Given the description of an element on the screen output the (x, y) to click on. 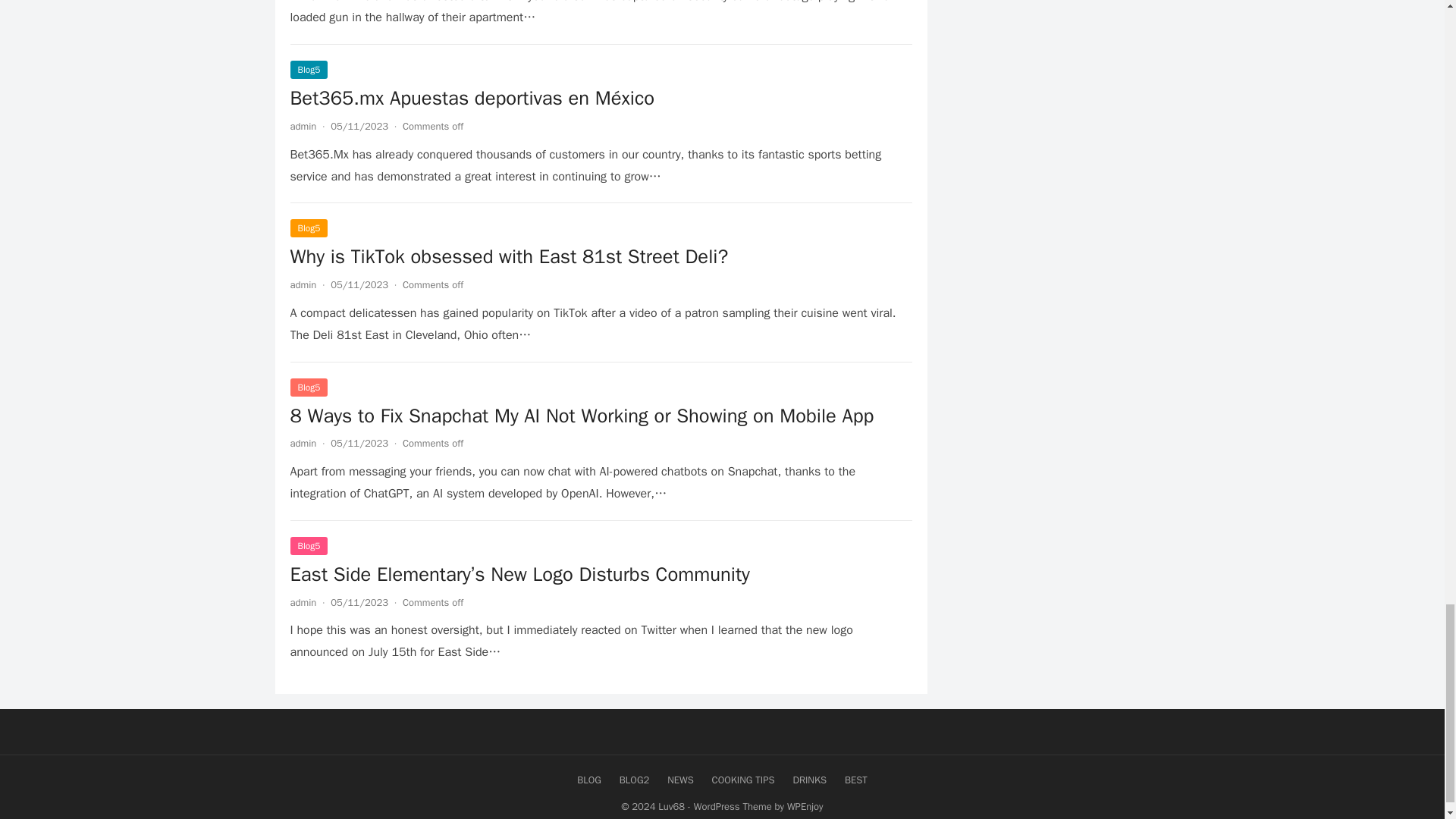
Blog5 (308, 386)
Blog5 (308, 228)
Why is TikTok obsessed with East 81st Street Deli? (508, 256)
admin (302, 442)
Posts by admin (302, 125)
Blog5 (308, 69)
admin (302, 125)
Posts by admin (302, 602)
Posts by admin (302, 284)
Posts by admin (302, 442)
admin (302, 284)
